Given the description of an element on the screen output the (x, y) to click on. 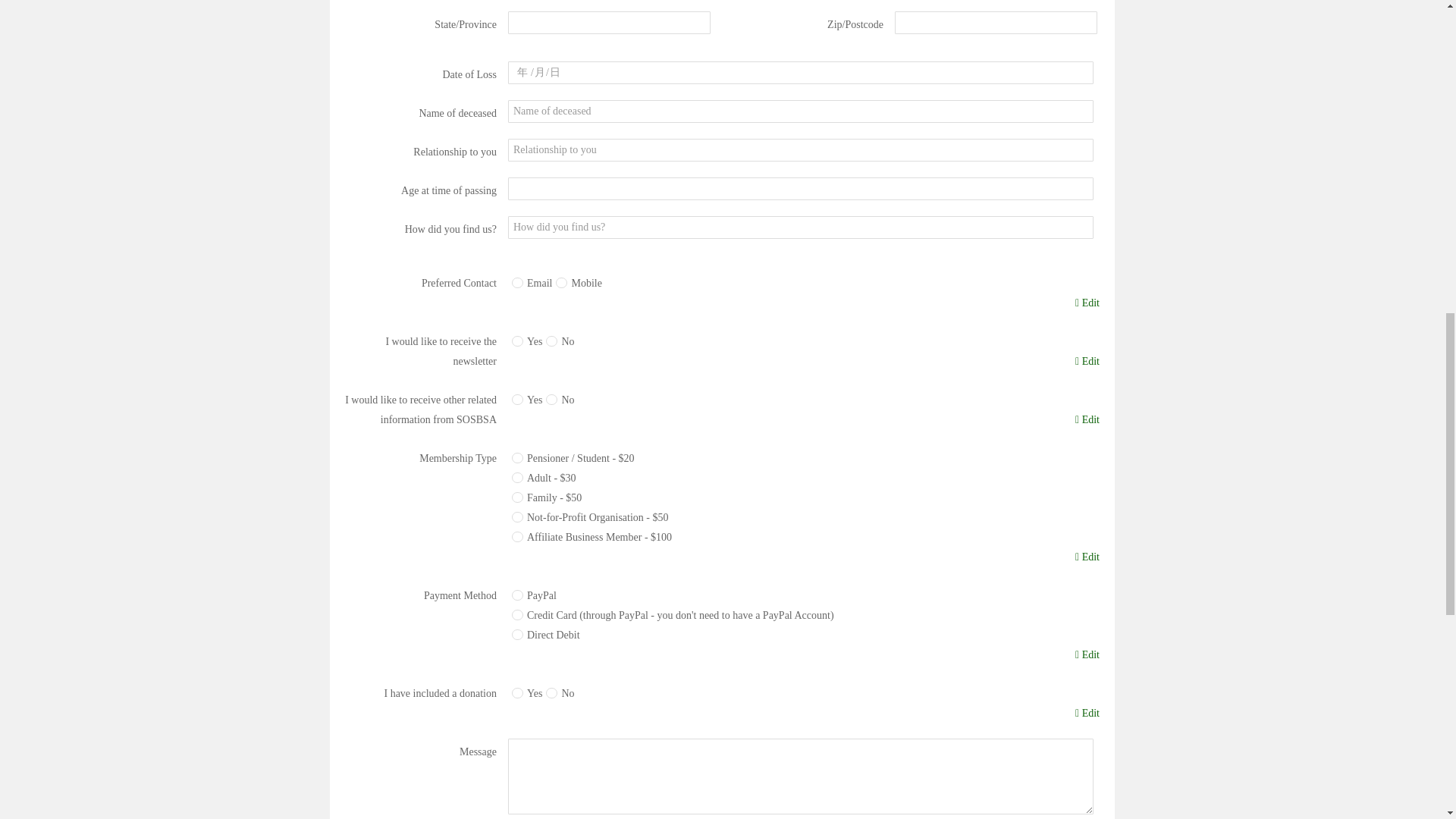
Edit (1087, 713)
No (551, 340)
Mobile (561, 282)
Edit (1087, 557)
Edit (1087, 419)
Yes (517, 340)
Email (517, 282)
Edit (1087, 302)
Edit (1087, 361)
Edit (1087, 655)
